Given the description of an element on the screen output the (x, y) to click on. 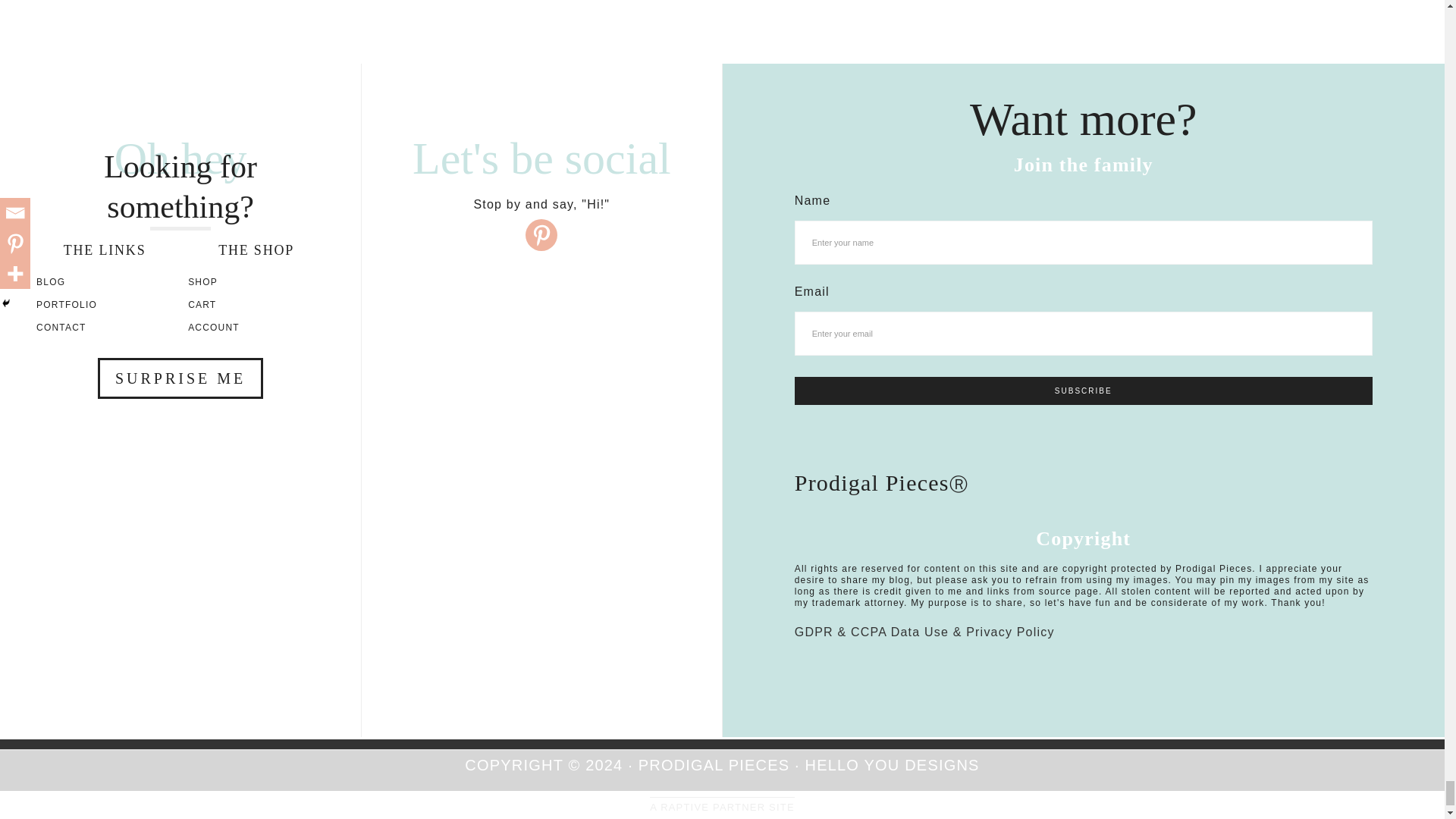
Subscribe (1083, 390)
